Given the description of an element on the screen output the (x, y) to click on. 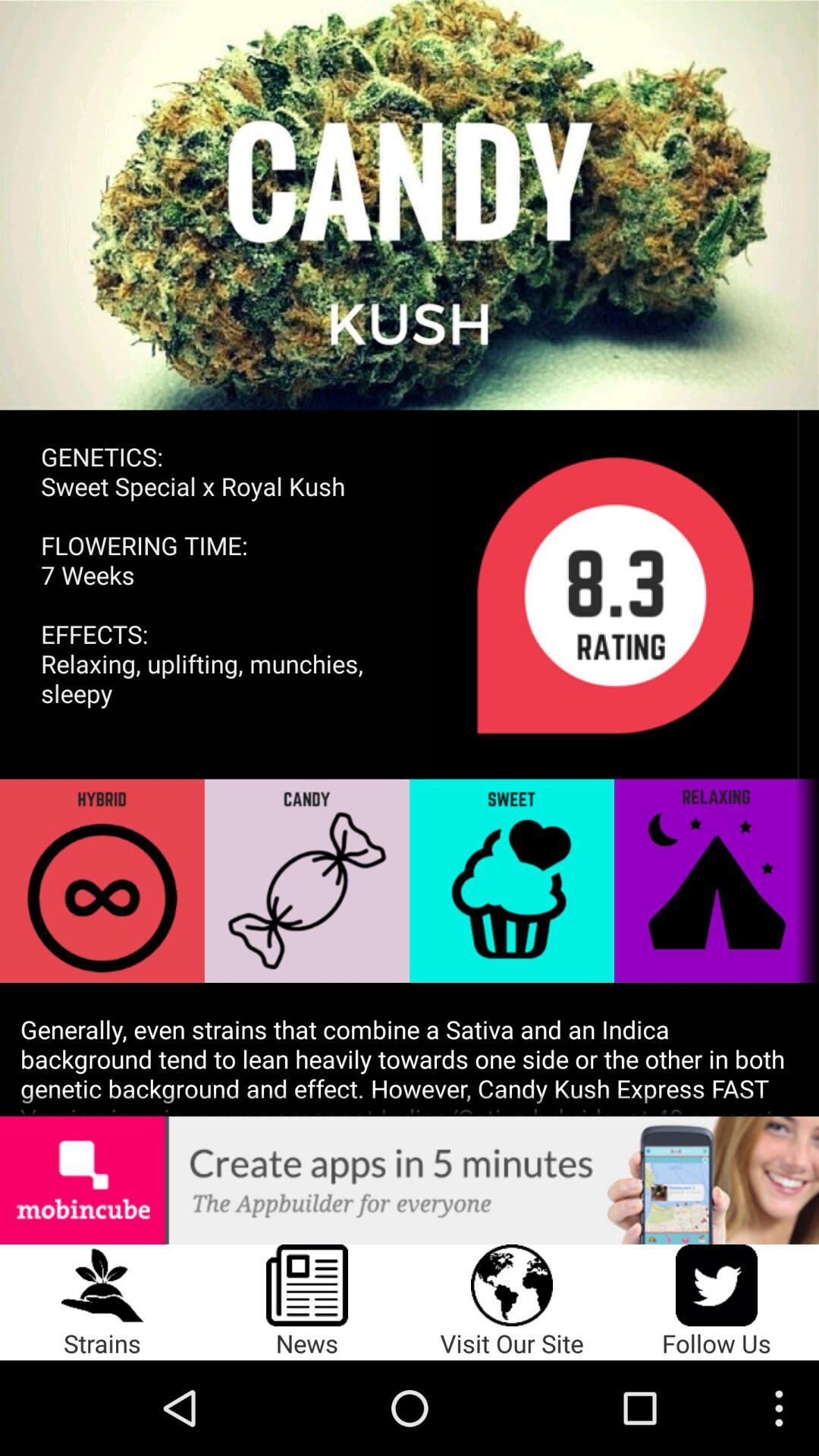
select the icon below generally even strains icon (409, 1180)
